Given the description of an element on the screen output the (x, y) to click on. 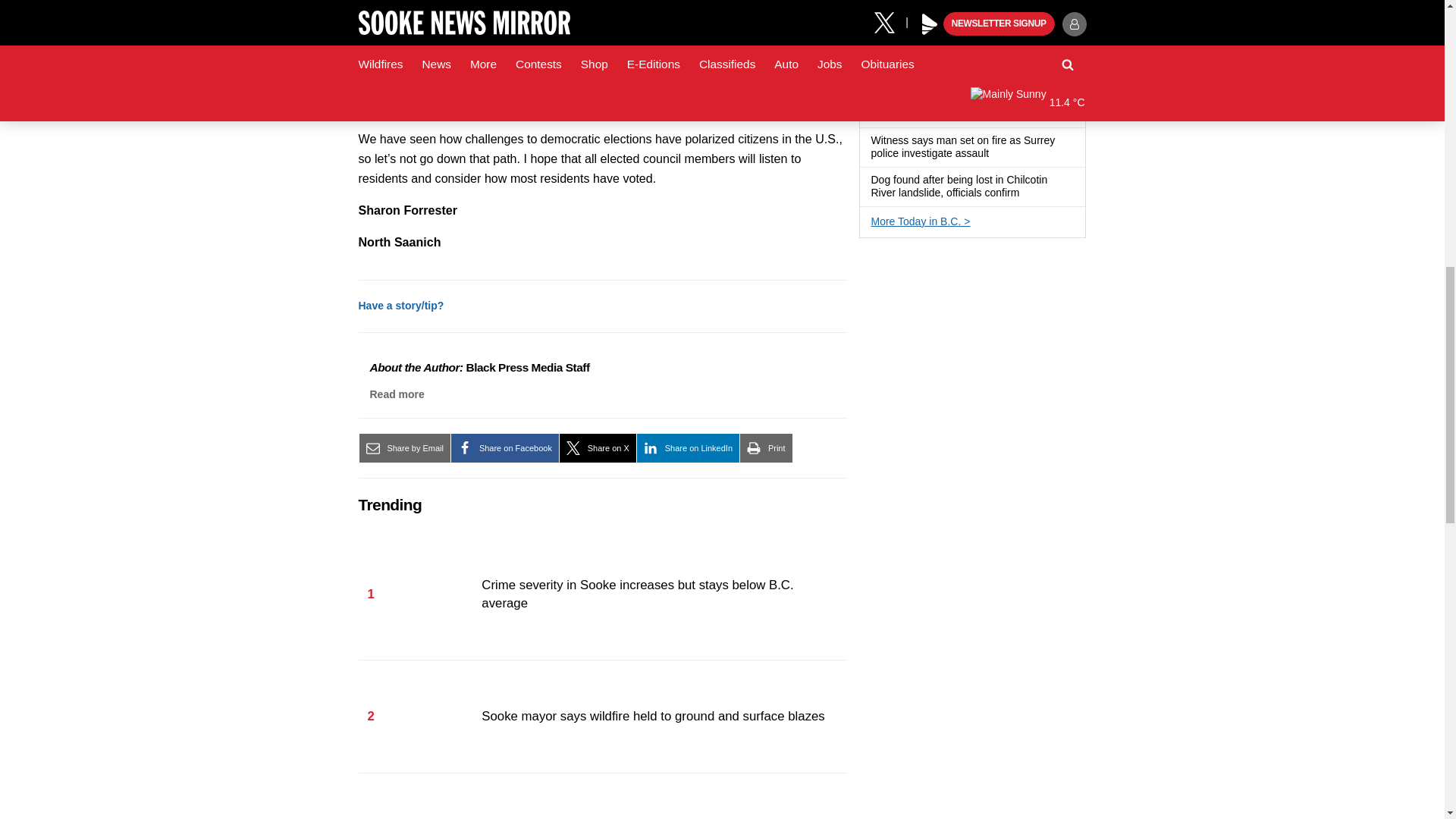
Has a gallery (997, 153)
Has a gallery (1027, 193)
